Given the description of an element on the screen output the (x, y) to click on. 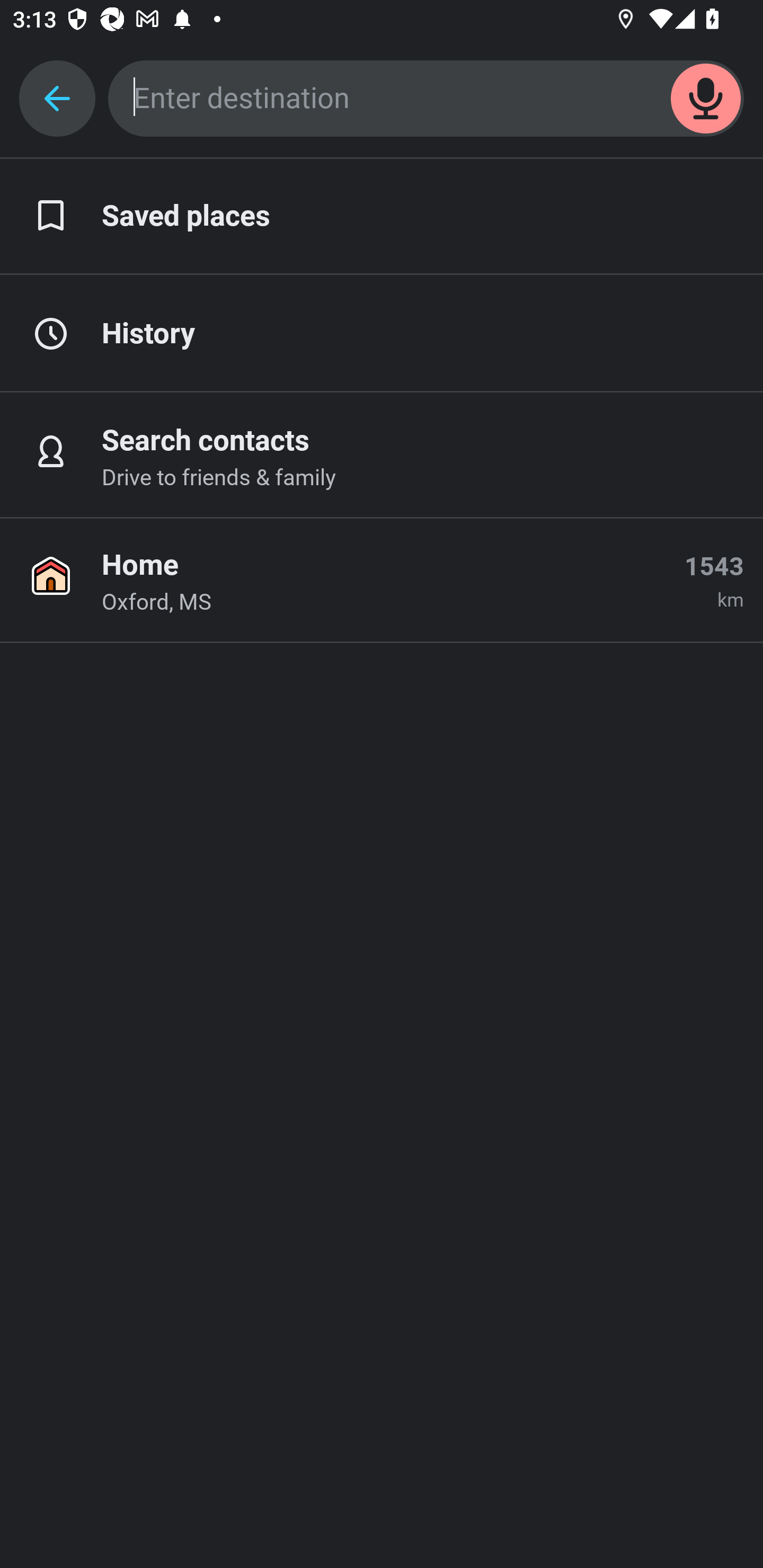
Enter destination sideMenuSearchBox (425, 98)
Saved places (381, 216)
History (381, 334)
Search contacts Drive to friends & family (381, 456)
Home Oxford, MS 1543 km (381, 580)
